Given the description of an element on the screen output the (x, y) to click on. 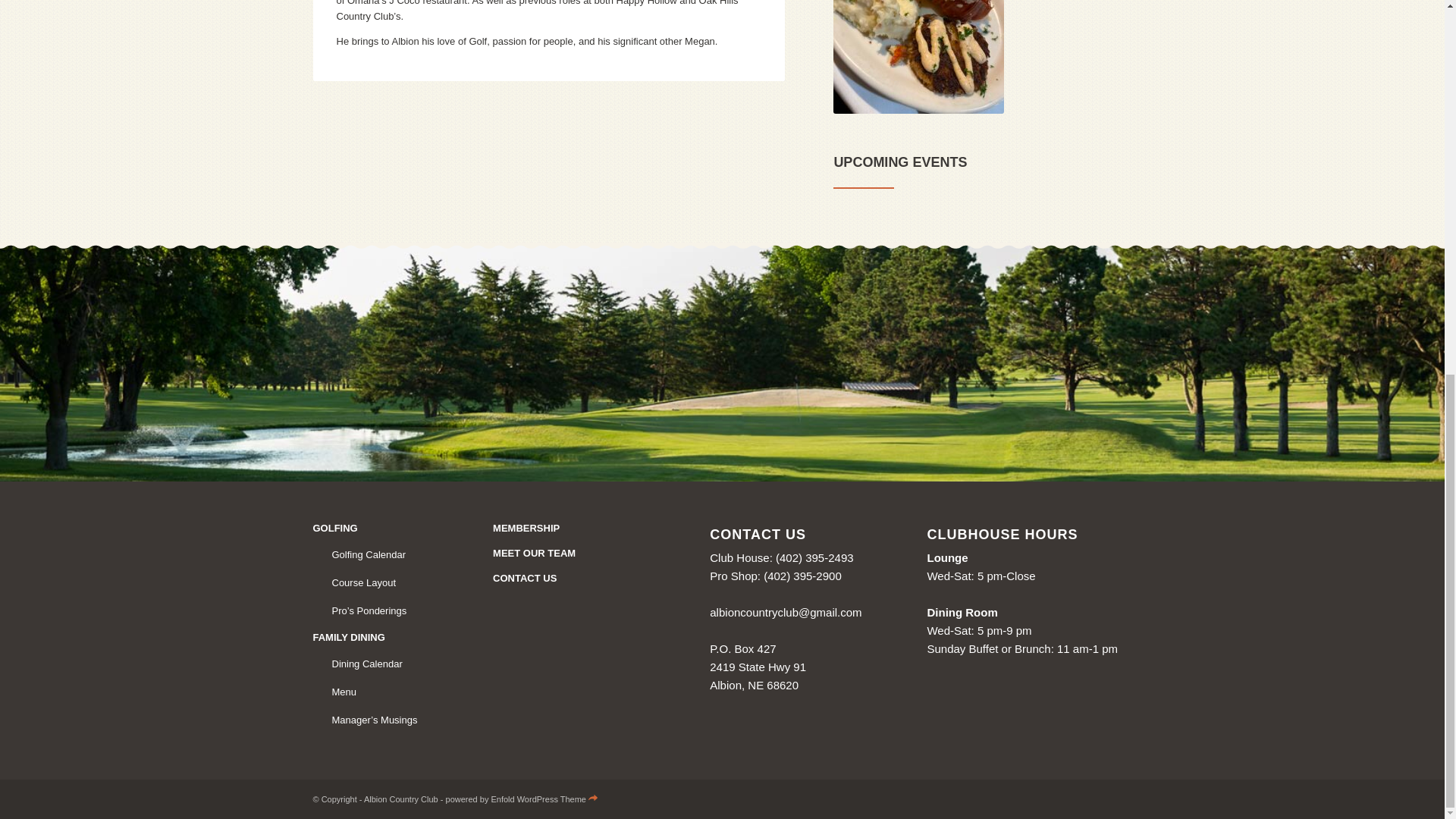
Golfing Calendar (383, 555)
Menu (383, 692)
Dining Calendar (383, 664)
CONTACT US (577, 578)
FAMILY DINING (378, 637)
MEMBERSHIP (577, 528)
Course Layout (383, 583)
GOLFING (378, 528)
powered by Enfold WordPress Theme (521, 798)
66269818115--D5AB7566-2027-4617-A87A-CBC7BEFCF3FF (918, 56)
MEET OUR TEAM (577, 553)
